Given the description of an element on the screen output the (x, y) to click on. 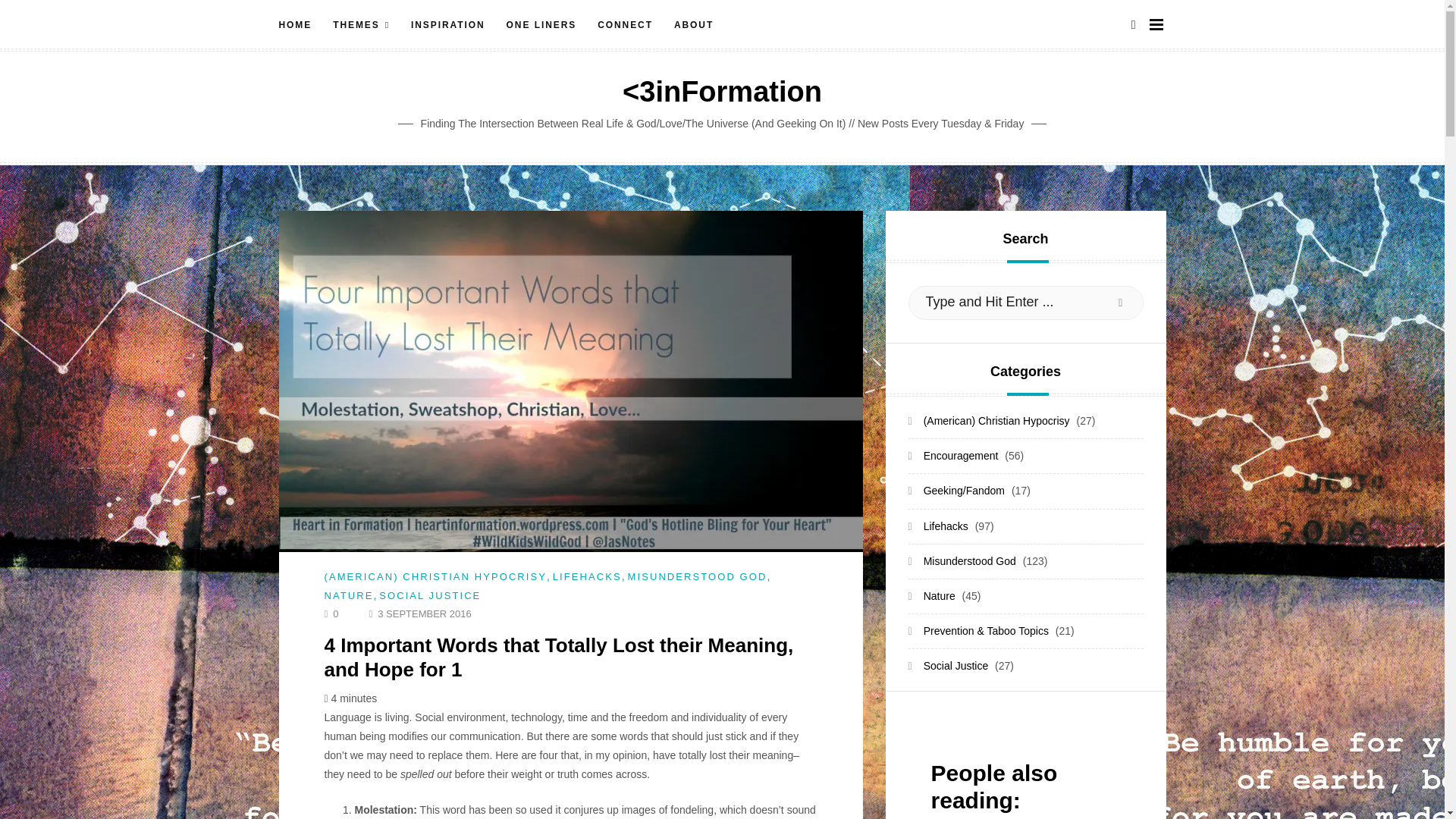
MISUNDERSTOOD GOD (697, 576)
CONNECT (624, 25)
INSPIRATION (448, 25)
LIFEHACKS (587, 576)
NATURE (349, 595)
SOCIAL JUSTICE (429, 595)
ONE LINERS (542, 25)
THEMES (360, 25)
ABOUT (693, 25)
